Given the description of an element on the screen output the (x, y) to click on. 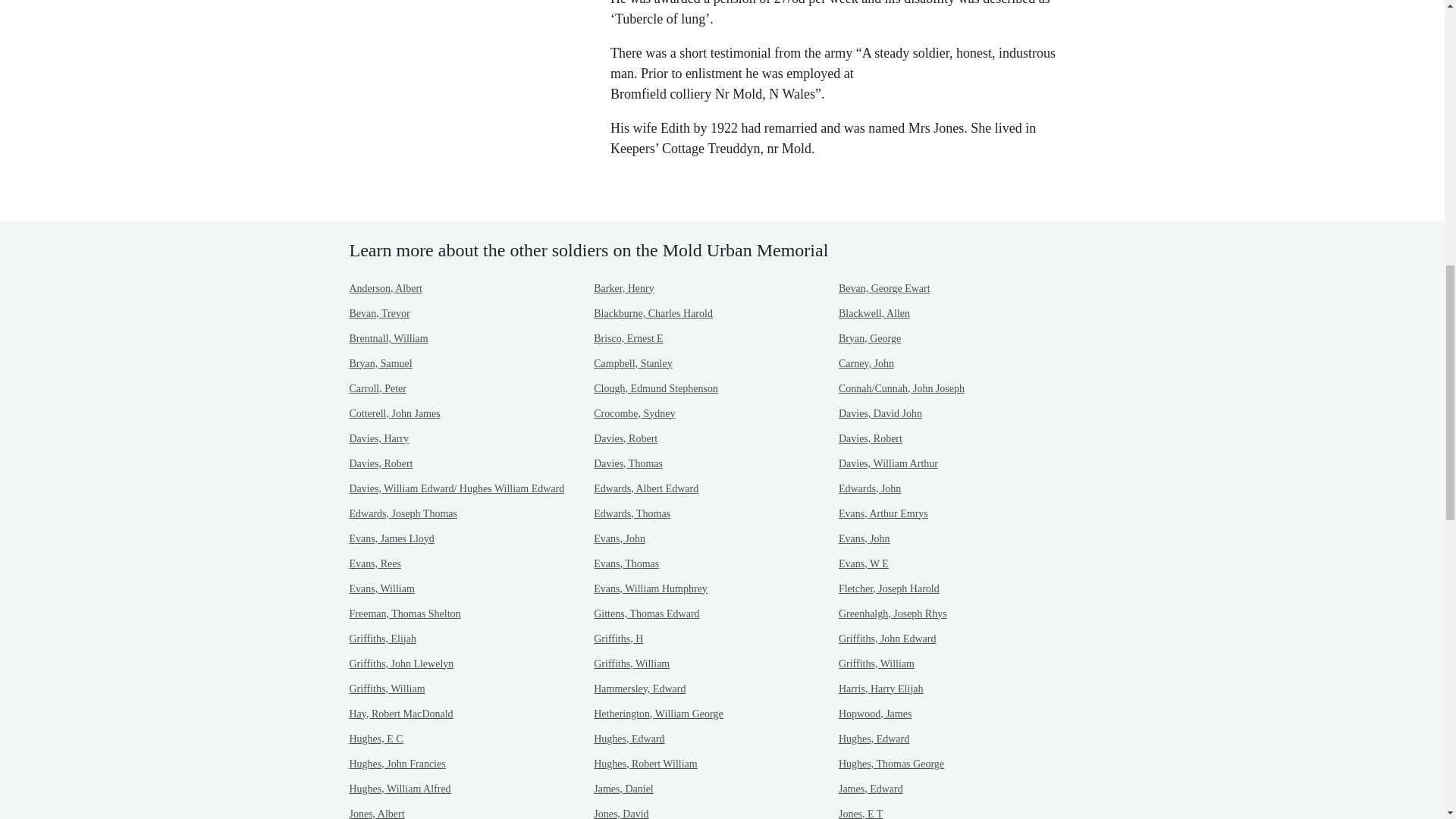
Blackwell, Allen (874, 313)
Bevan, Trevor (379, 313)
Anderson, Albert (385, 288)
Bryan, George (869, 337)
Clough, Edmund Stephenson (655, 388)
Davies, David John (879, 413)
Davies, William Arthur (887, 463)
Brisco, Ernest E (628, 337)
Davies, Robert (626, 438)
Davies, Harry (379, 438)
Blackburne, Charles Harold (653, 313)
Carroll, Peter (377, 388)
Bryan, Samuel (380, 363)
Davies, Robert (870, 438)
Cotterell, John James (394, 413)
